Given the description of an element on the screen output the (x, y) to click on. 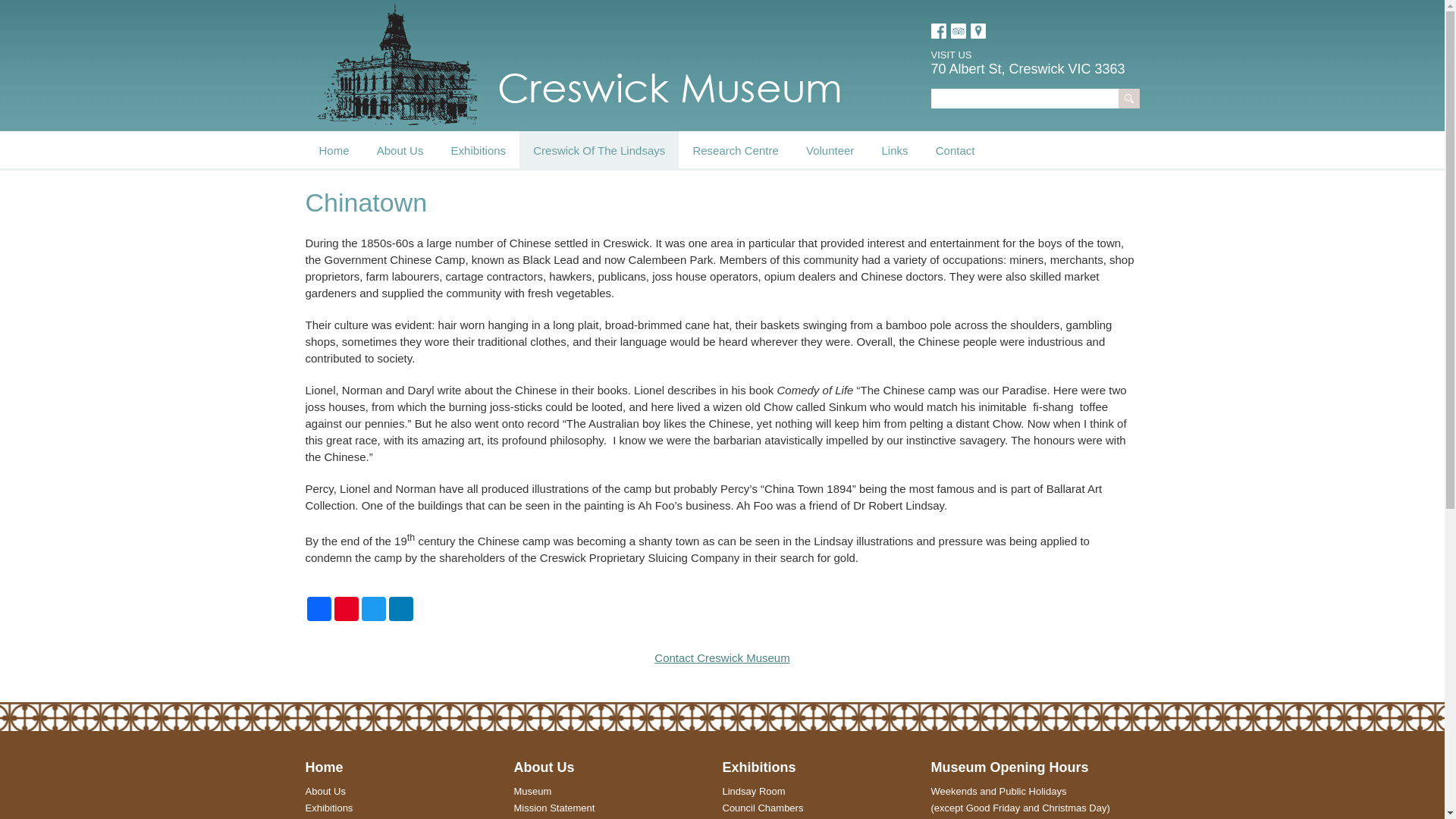
Mission Statement Element type: text (554, 807)
Facebook Element type: text (318, 608)
Lindsay Room Element type: text (752, 791)
LinkedIn Element type: text (400, 608)
Exhibitions Element type: text (328, 807)
Links Element type: text (895, 149)
Exhibitions Element type: text (478, 149)
Council Chambers Element type: text (762, 807)
Facebook Element type: hover (938, 29)
TripAdvisor Element type: hover (958, 29)
Contact Element type: text (955, 149)
Exhibitions Element type: text (758, 767)
Contact Creswick Museum Element type: text (721, 657)
About Us Element type: text (400, 149)
Research Centre Element type: text (734, 149)
Volunteer Element type: text (829, 149)
Home Element type: text (333, 149)
70 Albert St, Creswick VIC 3363 Element type: text (1028, 67)
About Us Element type: text (544, 767)
Pinterest Element type: text (345, 608)
Creswick Of The Lindsays Element type: text (598, 149)
Google Map Element type: hover (977, 29)
Museum Element type: text (533, 791)
Twitter Element type: text (372, 608)
Home Element type: text (323, 767)
About Us Element type: text (324, 791)
Creswick Museum Element type: hover (577, 64)
